Given the description of an element on the screen output the (x, y) to click on. 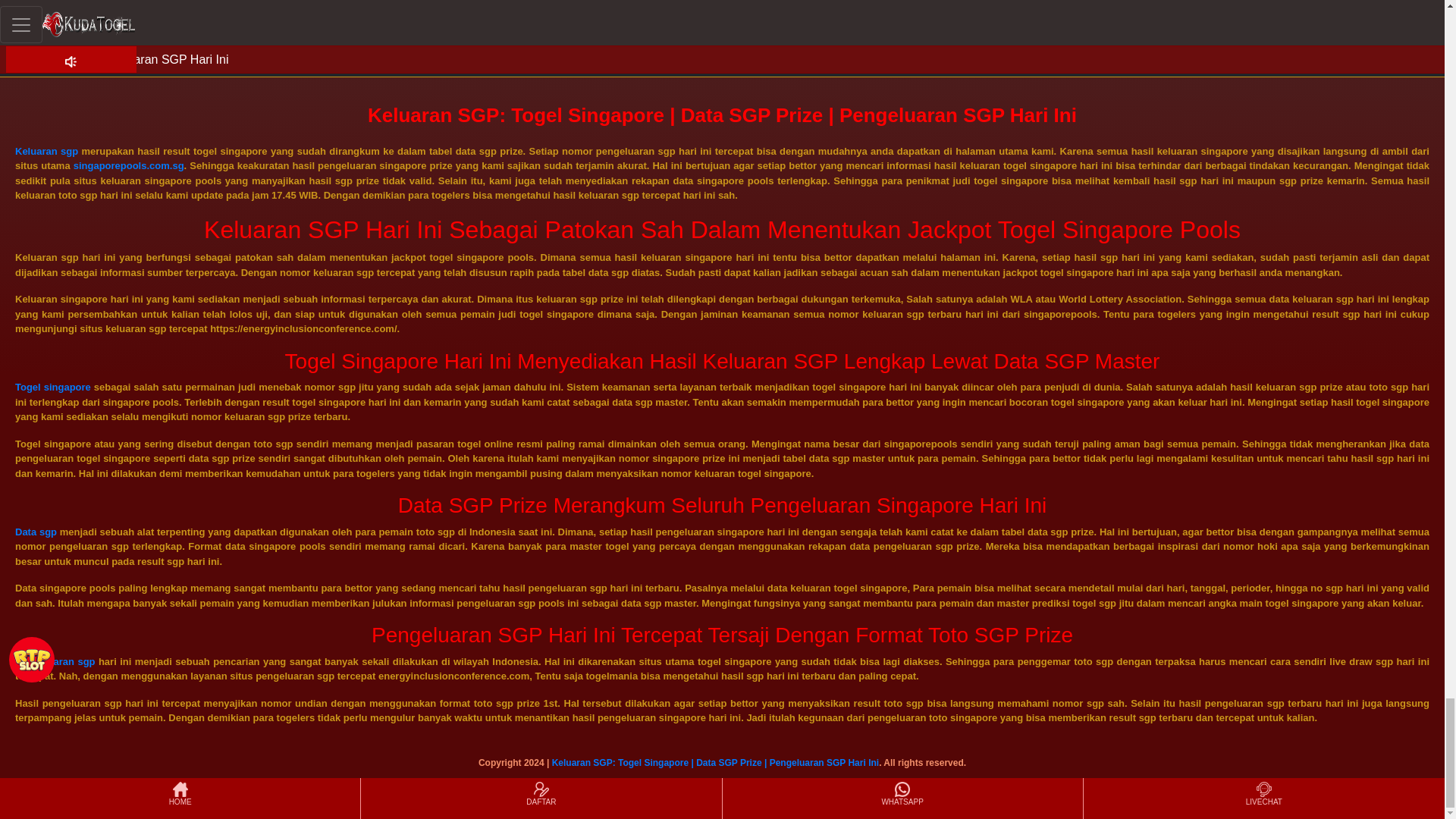
Keluaran sgp (46, 151)
singaporepools.com.sg (129, 165)
Data sgp (35, 531)
Pengeluaran sgp (55, 661)
Togel singapore (52, 387)
